Given the description of an element on the screen output the (x, y) to click on. 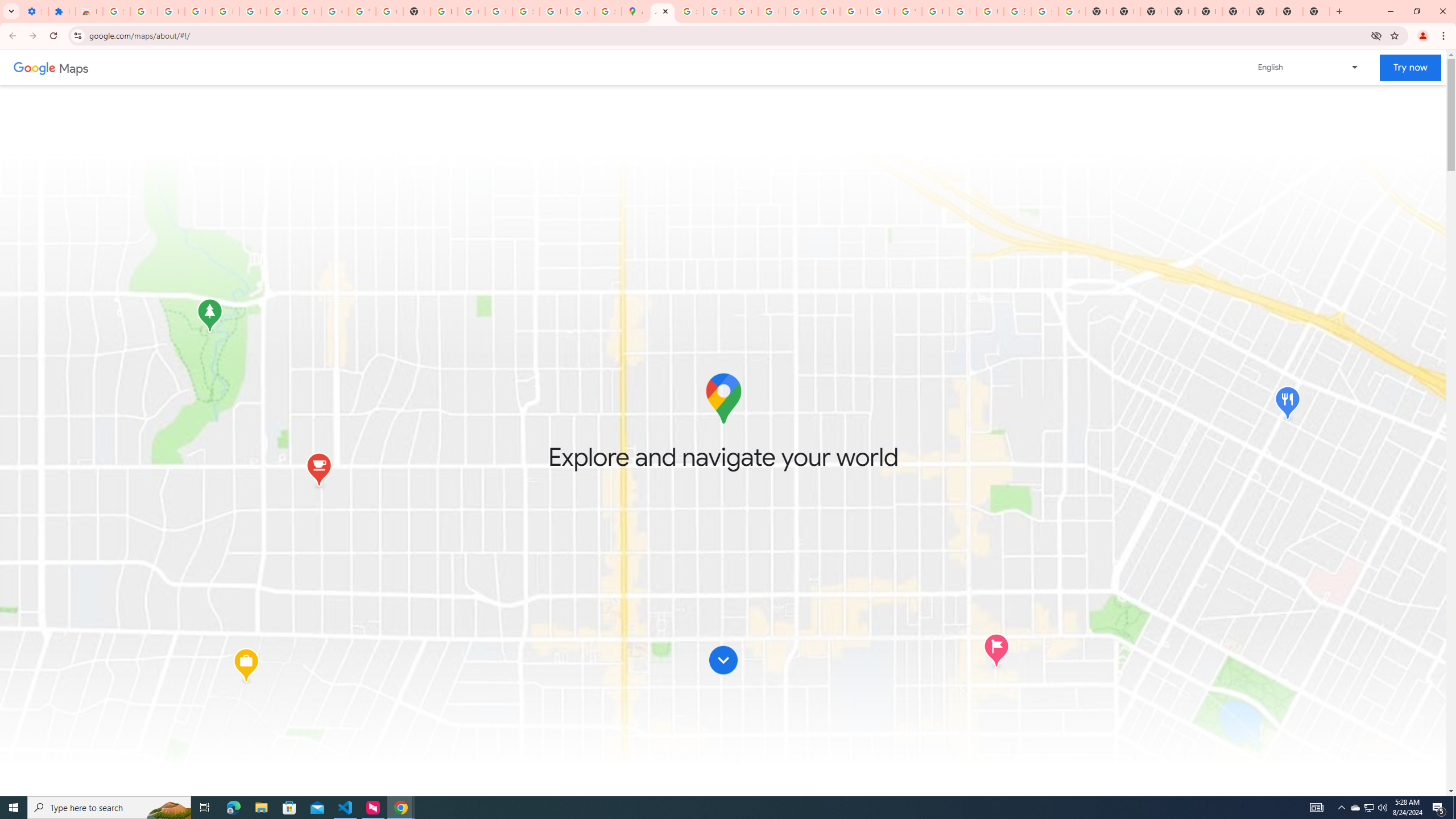
Sign in - Google Accounts (690, 11)
Sign in - Google Accounts (280, 11)
Safety in Our Products - Google Safety Center (607, 11)
Google Maps logo (722, 398)
